Given the description of an element on the screen output the (x, y) to click on. 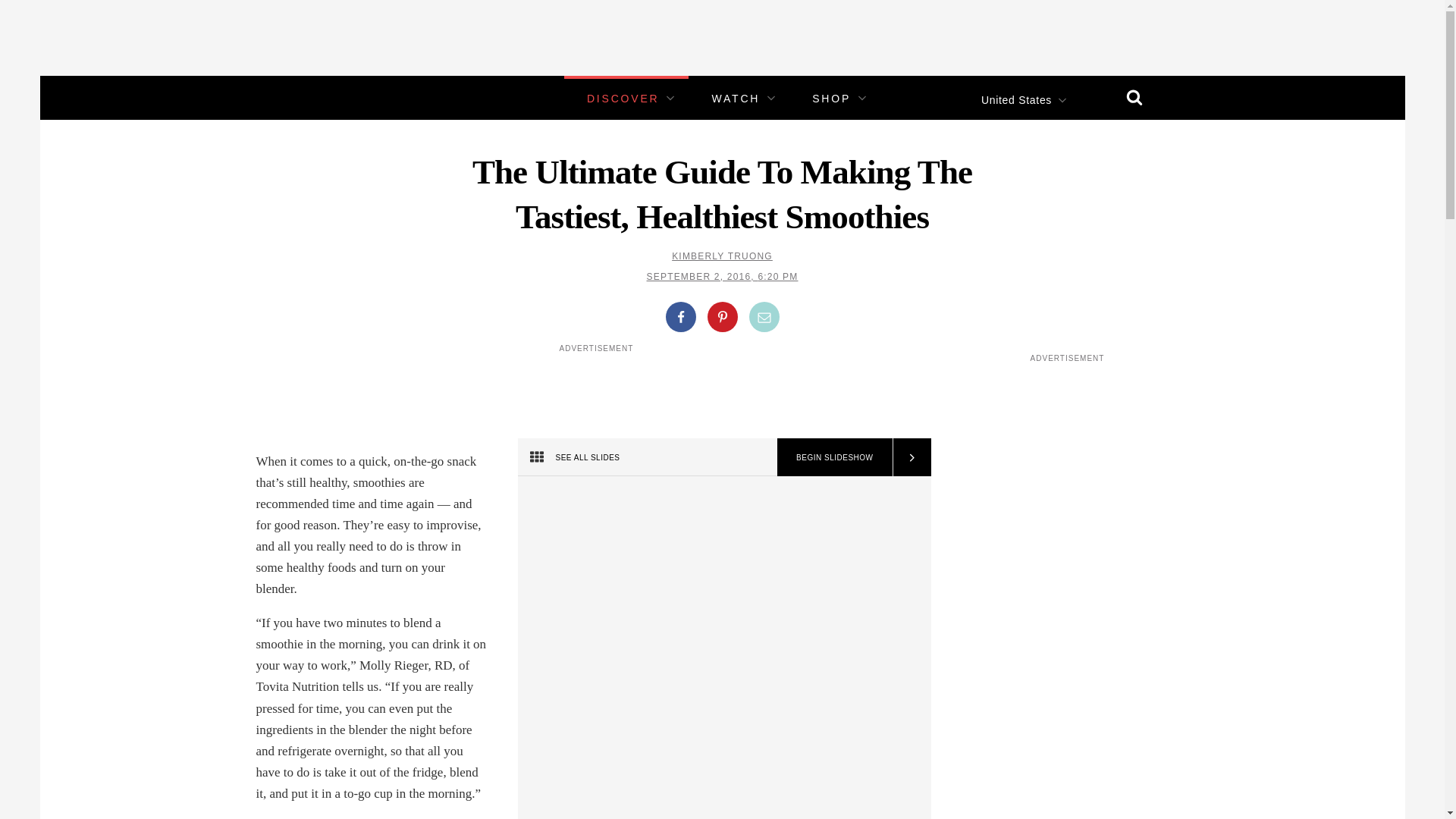
Share on Pinterest (721, 317)
Share by Email (763, 317)
SHOP (831, 98)
Next Slide (910, 456)
Begin Slideshow (834, 456)
BEGIN SLIDESHOW (834, 456)
WATCH (735, 98)
DISCOVER (622, 98)
SEPTEMBER 2, 2016, 6:20 PM (721, 276)
KIMBERLY TRUONG (722, 255)
